Given the description of an element on the screen output the (x, y) to click on. 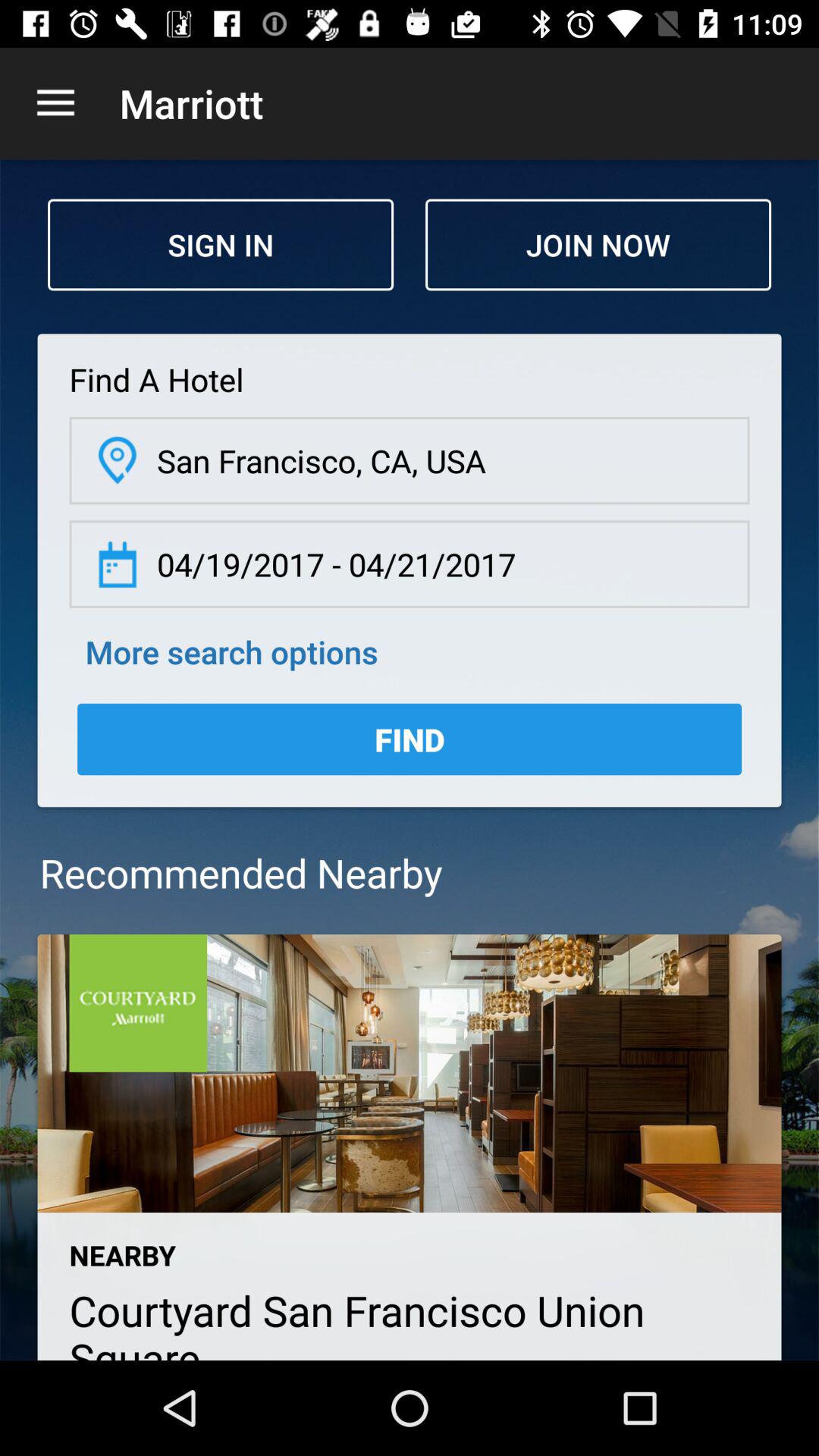
launch app next to marriott (55, 103)
